Given the description of an element on the screen output the (x, y) to click on. 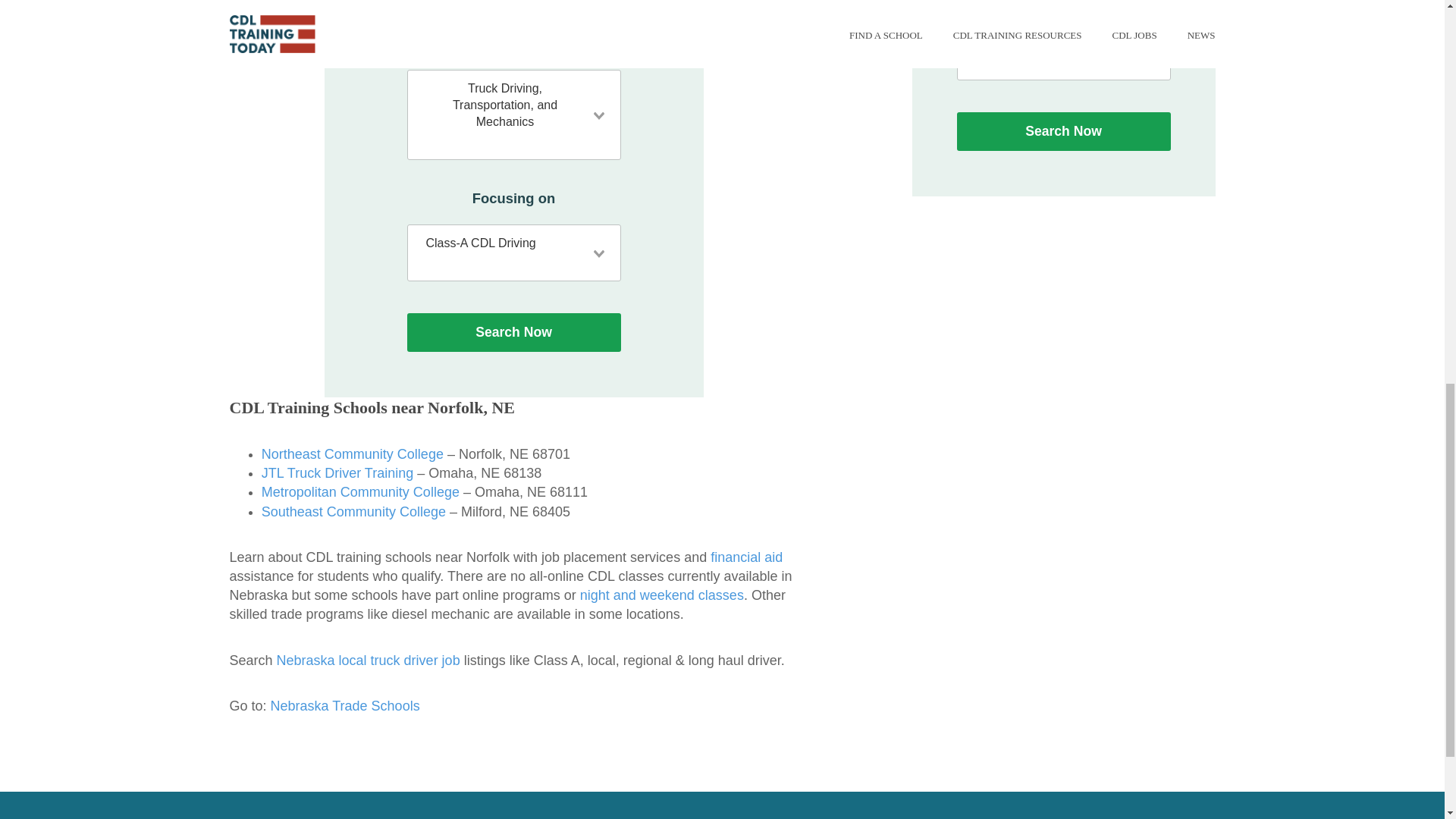
Search Now (1063, 131)
Northeast Community College (353, 453)
Metropolitan Community College (361, 491)
financial aid (746, 557)
Nebraska local truck driver job (368, 660)
night and weekend classes (661, 595)
Search Now (513, 332)
Southeast Community College (353, 511)
JTL Truck Driver Training (337, 473)
Nebraska Trade Schools (345, 705)
